Given the description of an element on the screen output the (x, y) to click on. 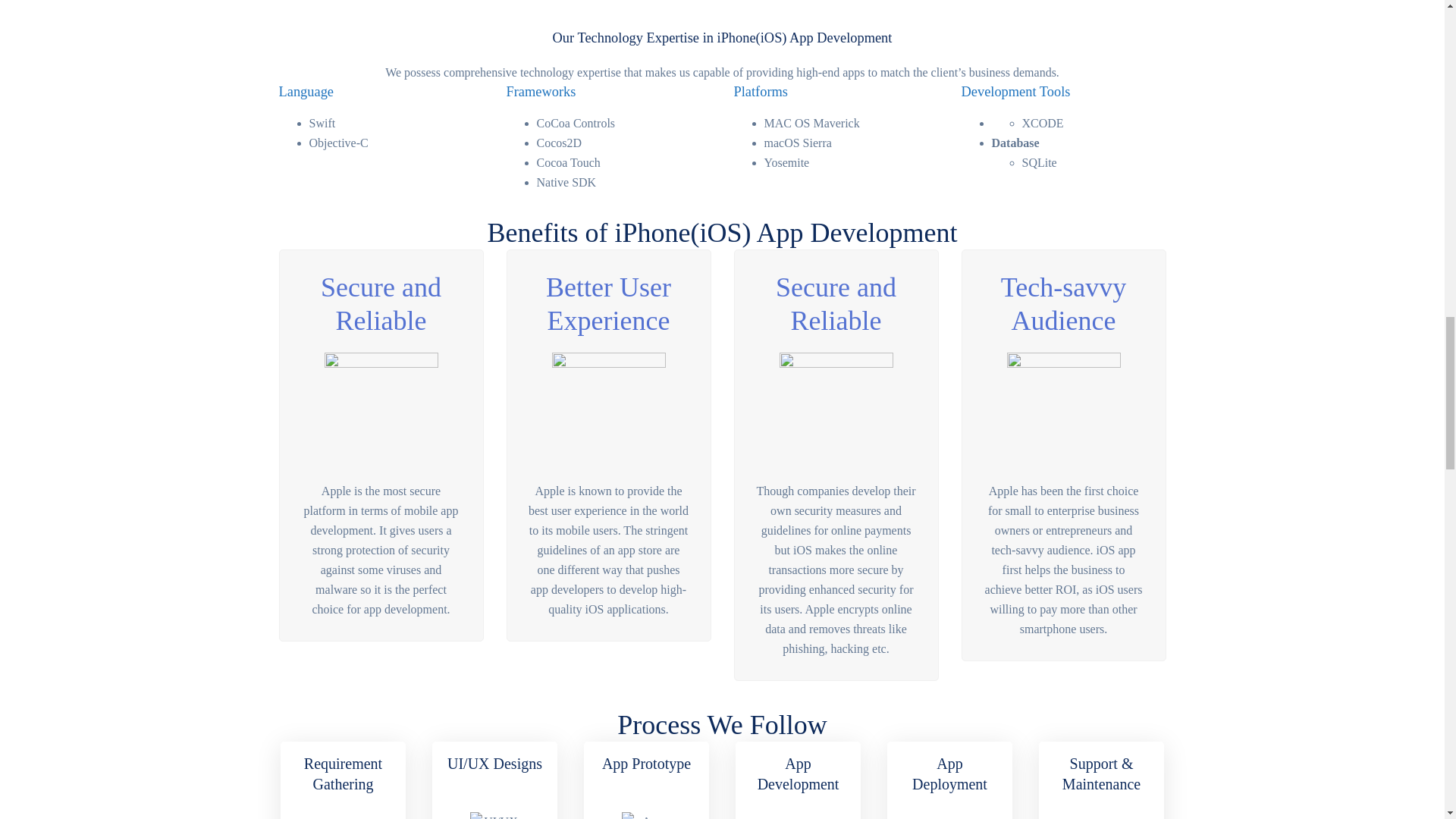
safety - Techwarezen Pvt. Ltd. (381, 409)
user-experience-design-icon-0 - Techwarezen Pvt. Ltd. (608, 409)
Rupee-removebg-preview - Techwarezen Pvt. Ltd. (835, 409)
it-tools-icon - Techwarezen Pvt. Ltd. (1064, 409)
